Given the description of an element on the screen output the (x, y) to click on. 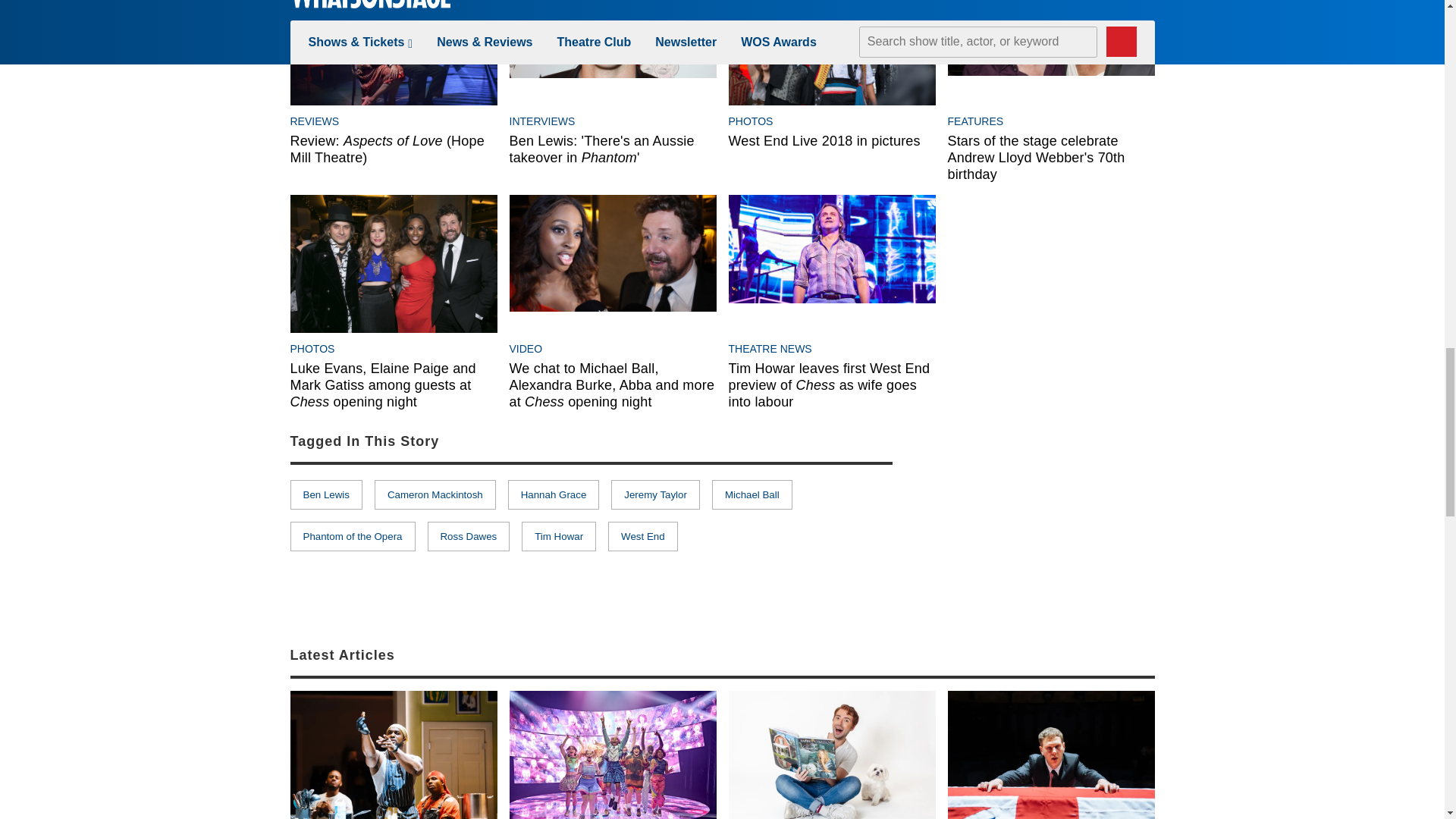
3rd party ad content (1040, 516)
